Given the description of an element on the screen output the (x, y) to click on. 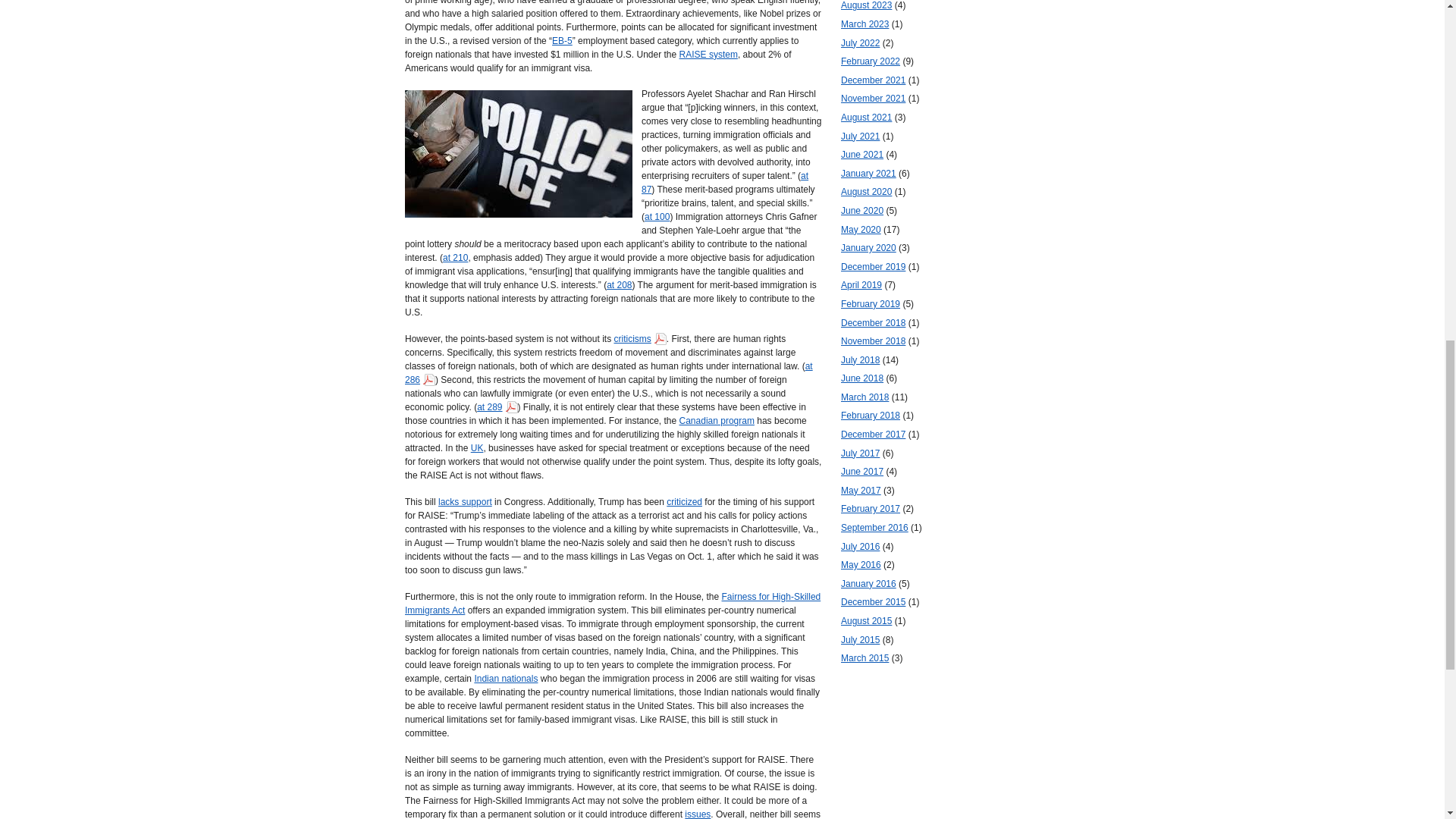
at 100 (657, 216)
at 87 (725, 182)
criticisms (638, 338)
at 208 (619, 285)
RAISE system (708, 54)
at 286 (608, 372)
at 210 (454, 257)
EB-5 (561, 40)
